Given the description of an element on the screen output the (x, y) to click on. 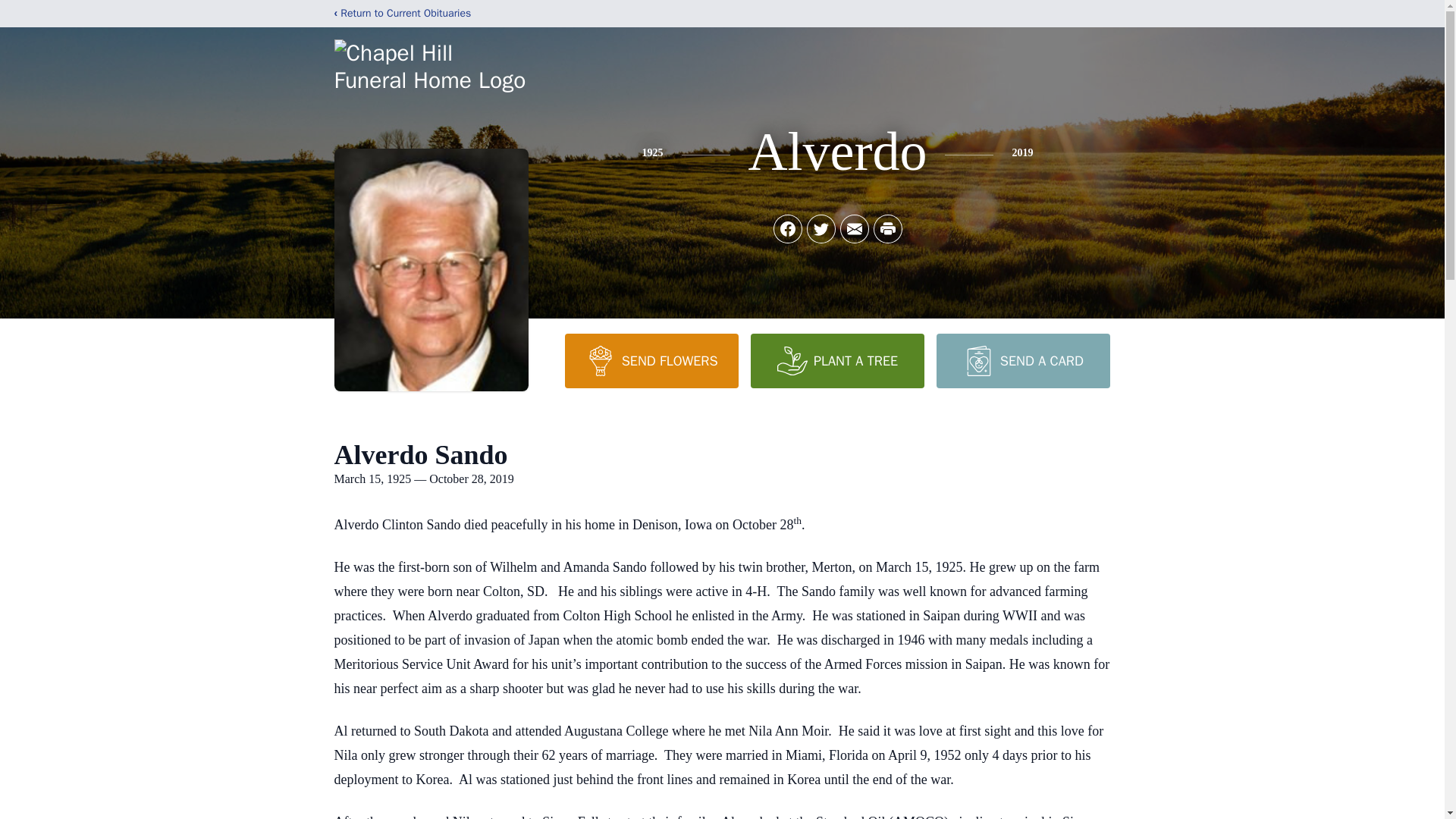
SEND A CARD (1022, 360)
SEND FLOWERS (651, 360)
PLANT A TREE (837, 360)
